Given the description of an element on the screen output the (x, y) to click on. 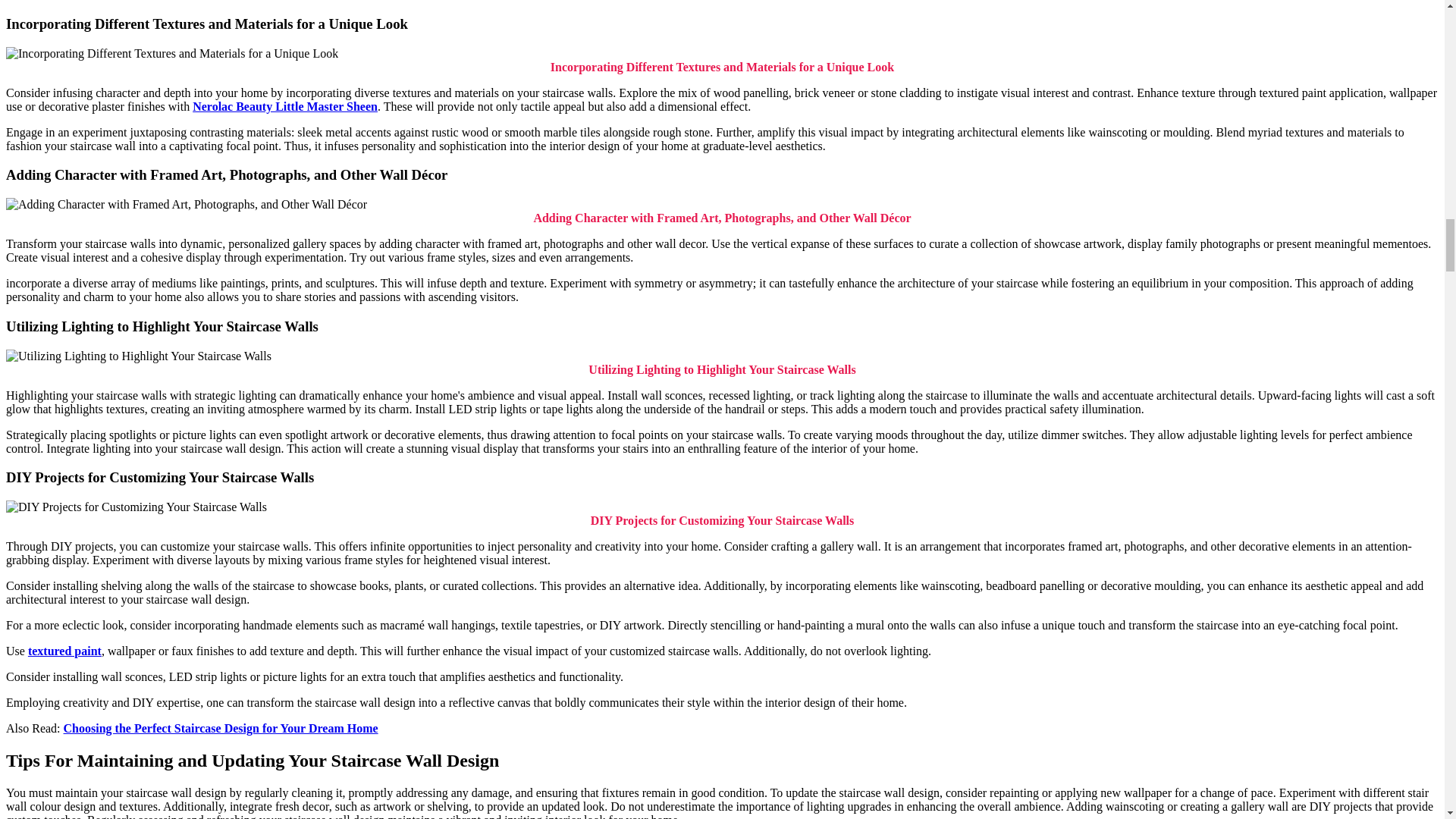
Utilizing Lighting to Highlight Your Staircase Walls (137, 355)
DIY Projects for Customizing Your Staircase Walls (135, 507)
